Given the description of an element on the screen output the (x, y) to click on. 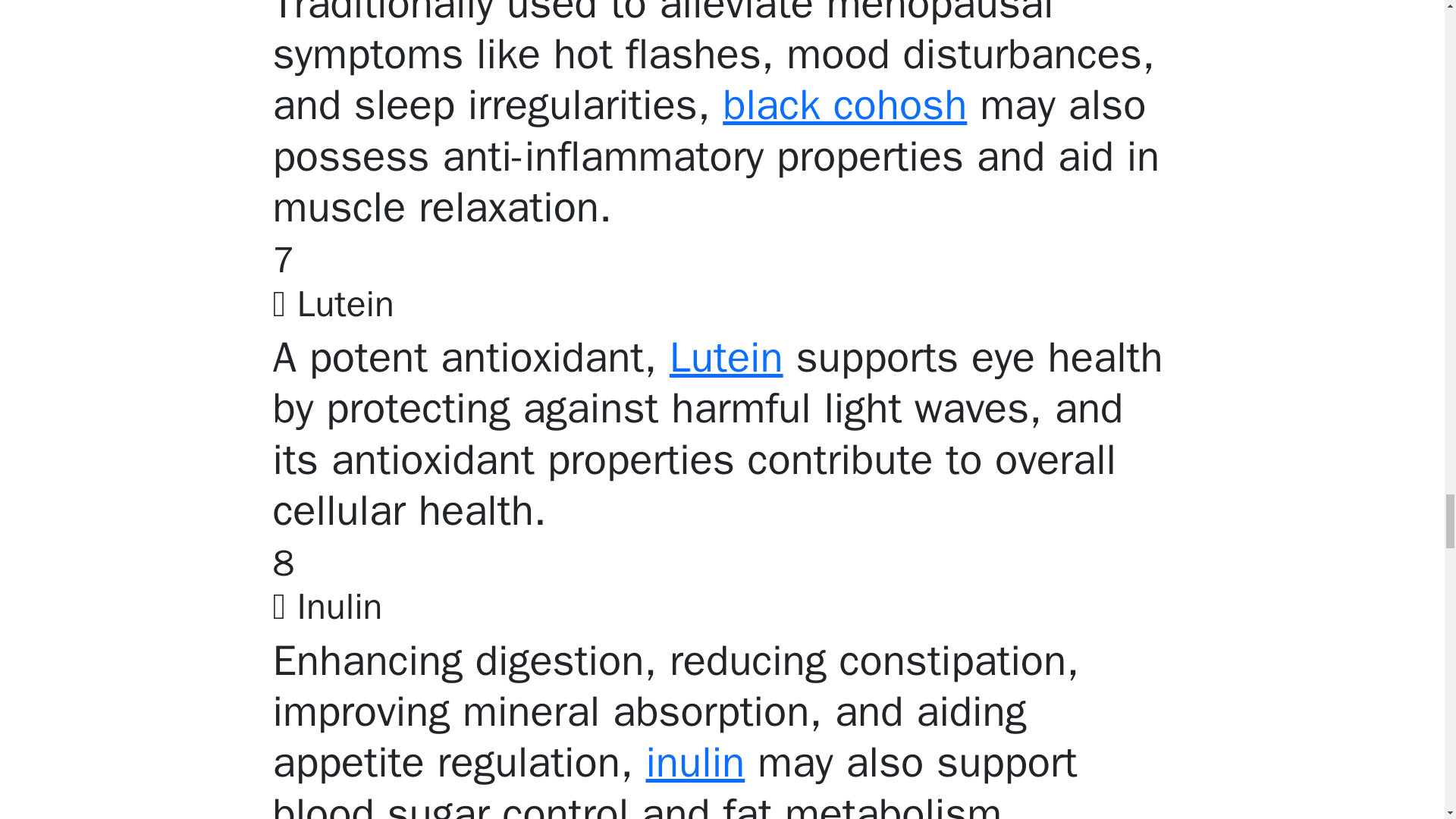
black cohosh (844, 104)
Lutein (726, 357)
inulin (694, 762)
